Given the description of an element on the screen output the (x, y) to click on. 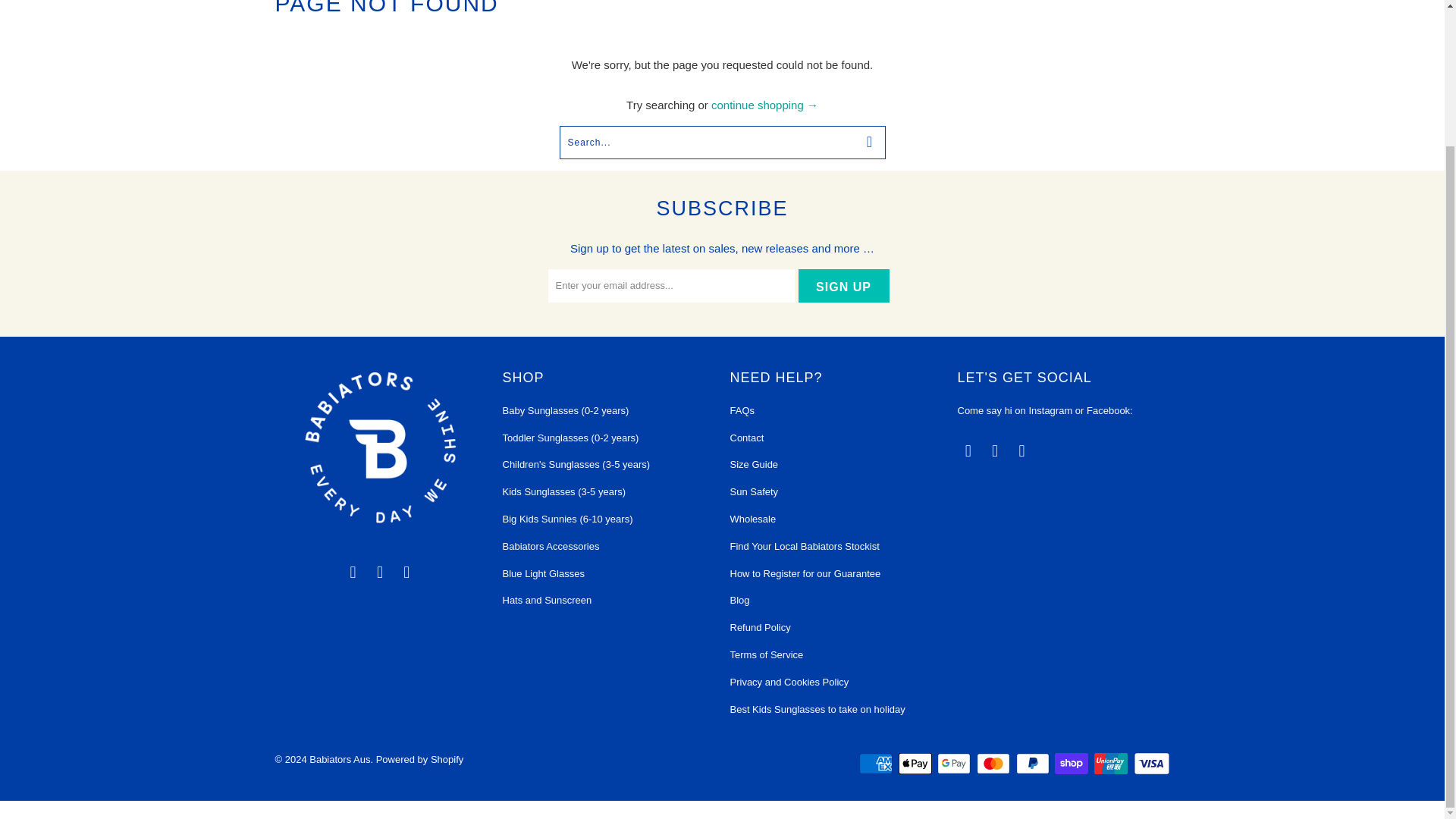
Mastercard (994, 763)
Union Pay (1112, 763)
American Express (877, 763)
Babiators Aus on Instagram (1021, 451)
Babiators Aus on Facebook (380, 572)
Email Babiators Aus (353, 572)
PayPal (1034, 763)
Visa (1150, 763)
Shop Pay (1072, 763)
Apple Pay (916, 763)
Babiators Aus on Instagram (407, 572)
Sign Up (842, 285)
Google Pay (955, 763)
Babiators Aus on Facebook (995, 451)
Email Babiators Aus (967, 451)
